Given the description of an element on the screen output the (x, y) to click on. 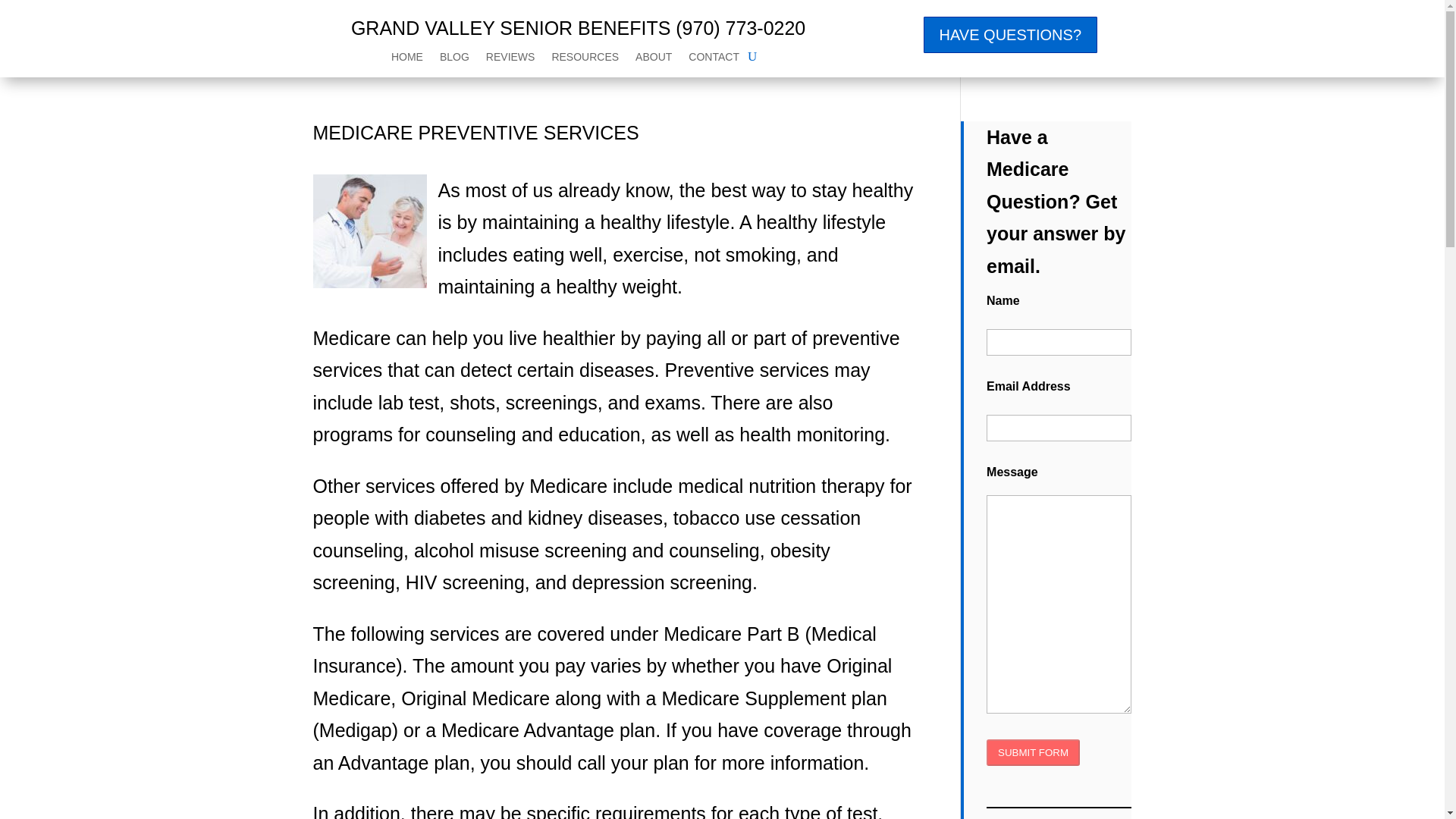
Medicare Insurance Resources (584, 59)
Posts from my Blog (453, 59)
HAVE QUESTIONS? (1010, 34)
RESOURCES (584, 59)
GRAND VALLEY SENIOR BENEFITS (509, 27)
ABOUT (652, 59)
BLOG (453, 59)
Contact Lew Barr (713, 59)
REVIEWS (510, 59)
Submit Form (1033, 752)
About Lew Barr (652, 59)
Submit Form (1033, 752)
HOME (407, 59)
CONTACT (713, 59)
Reviews (510, 59)
